Given the description of an element on the screen output the (x, y) to click on. 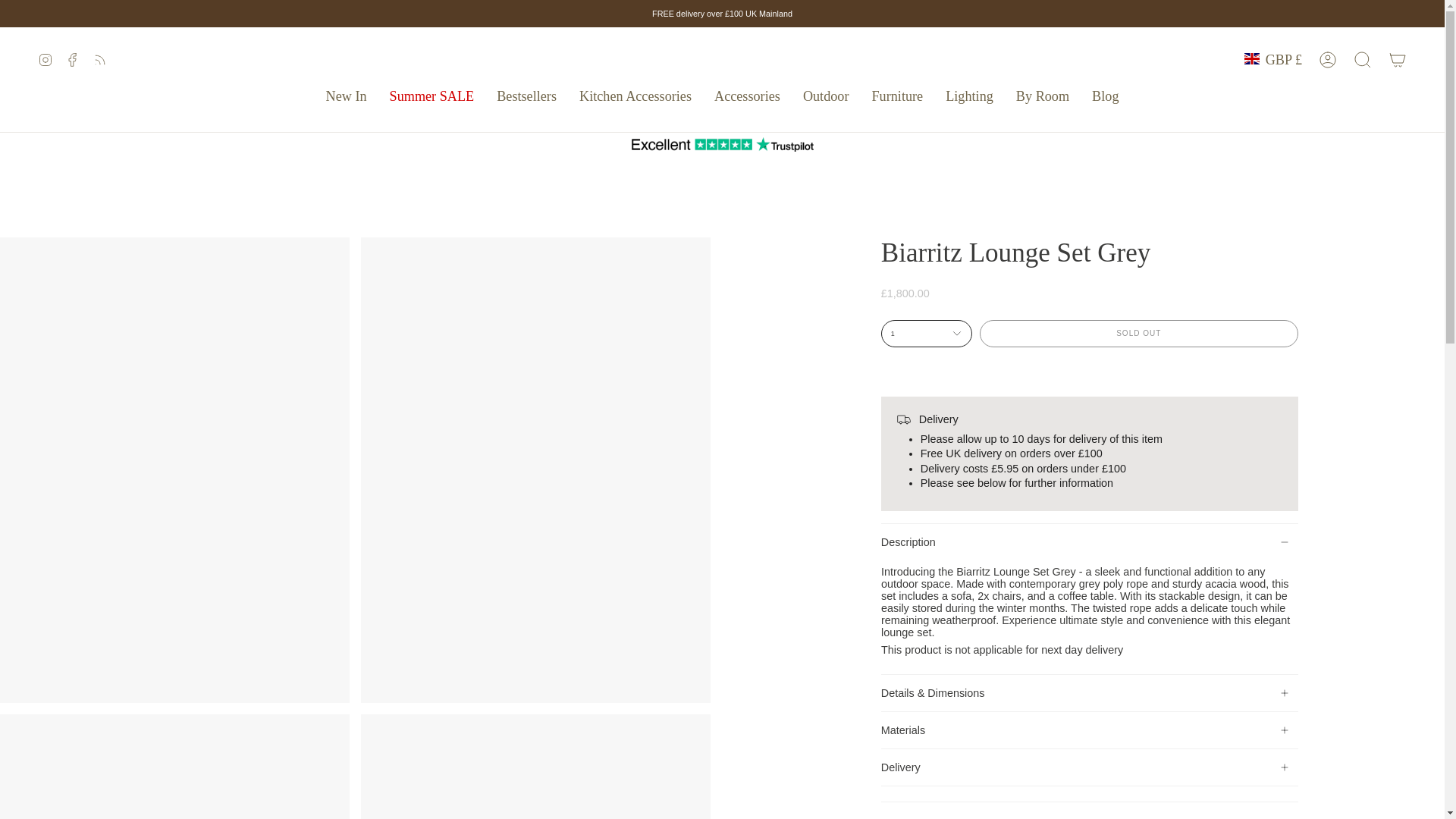
Hudson Home on Feed (100, 59)
Search (1362, 59)
Cart (1397, 59)
Hudson Home on Facebook (72, 59)
My Account (1327, 59)
Hudson Home on Instagram (44, 59)
